Given the description of an element on the screen output the (x, y) to click on. 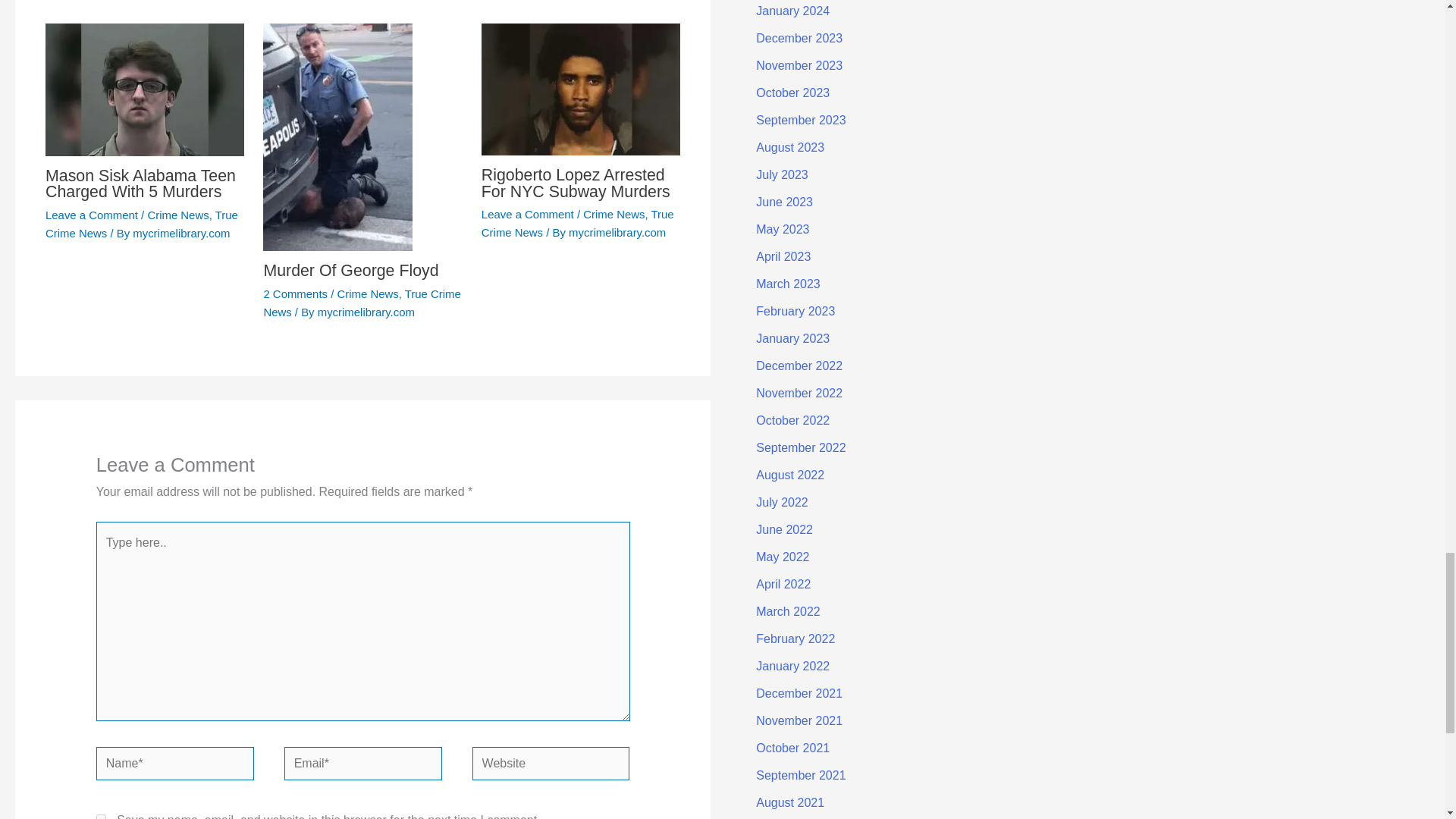
yes (101, 816)
